Given the description of an element on the screen output the (x, y) to click on. 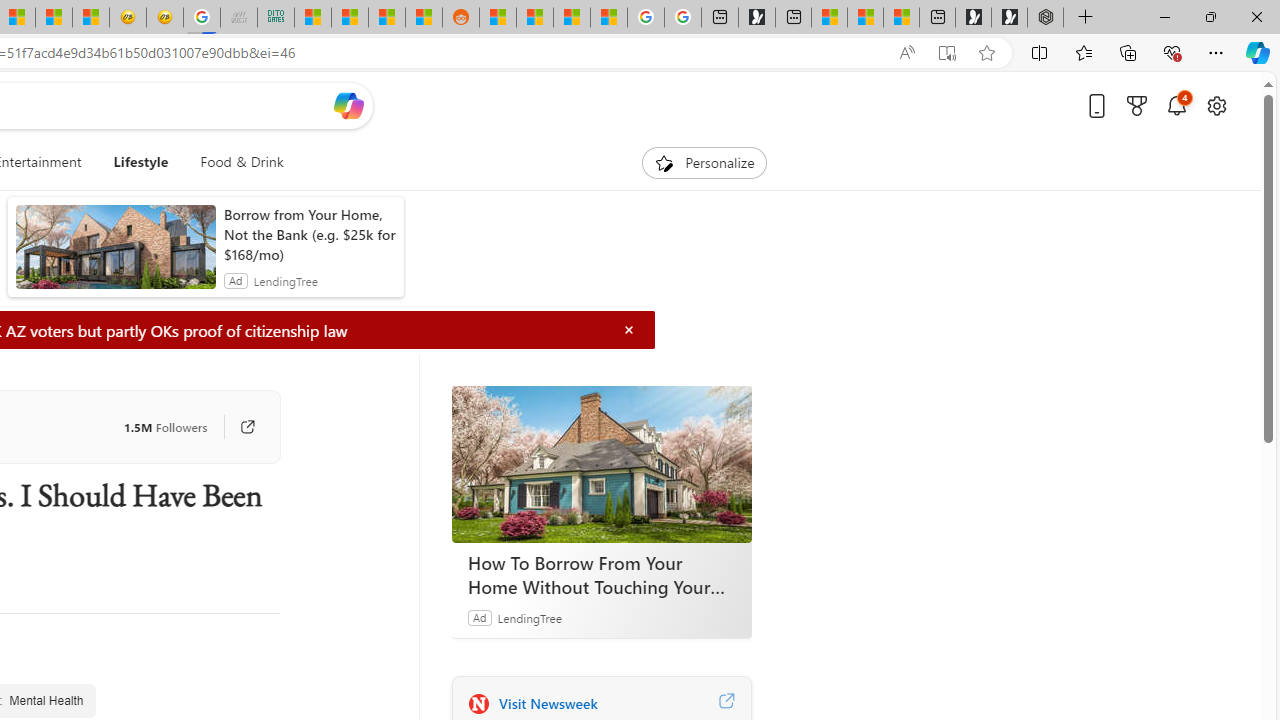
R******* | Trusted Community Engagement and Contributions (497, 17)
